Given the description of an element on the screen output the (x, y) to click on. 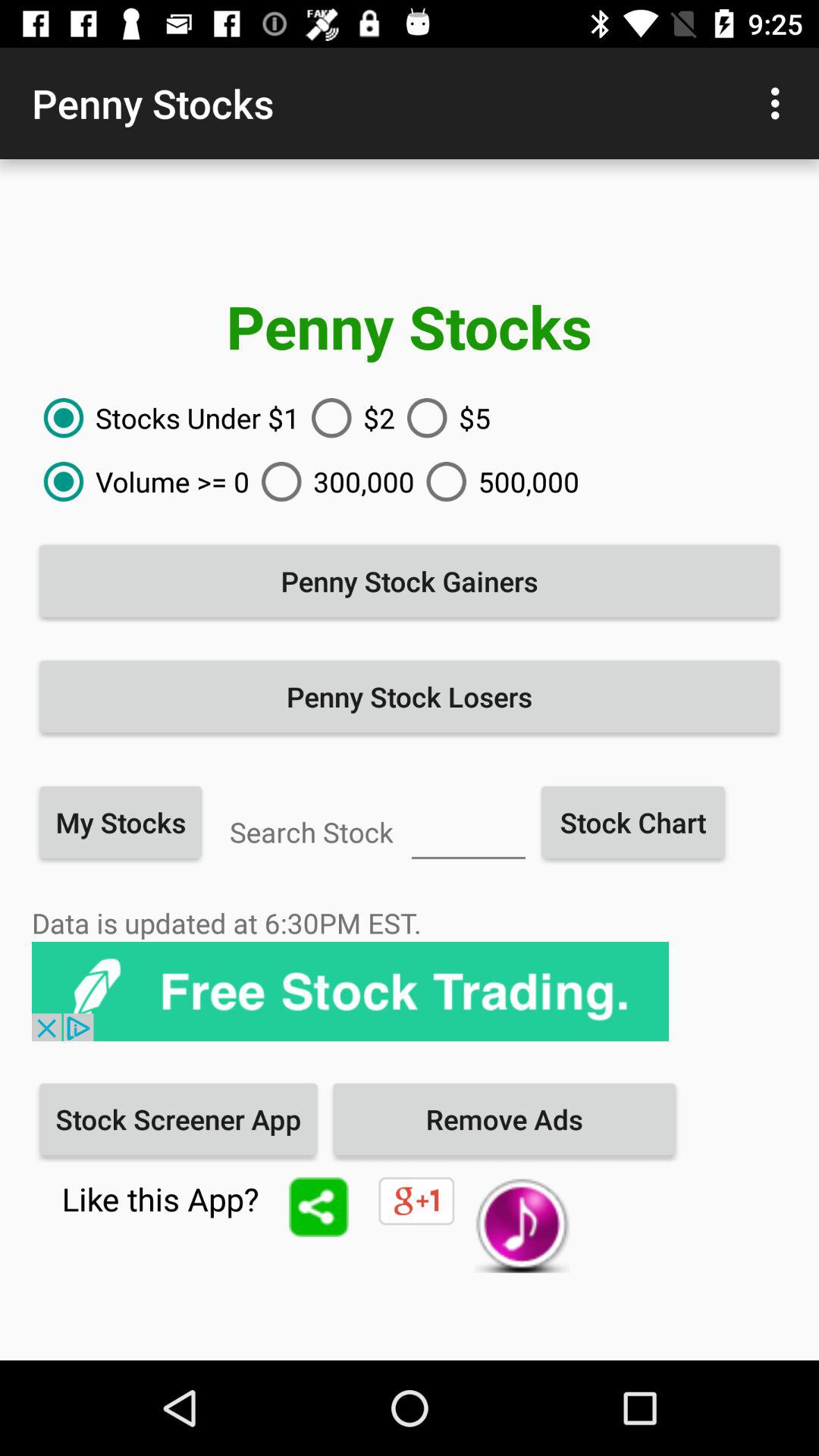
turn off the item at the top right corner (779, 103)
